Given the description of an element on the screen output the (x, y) to click on. 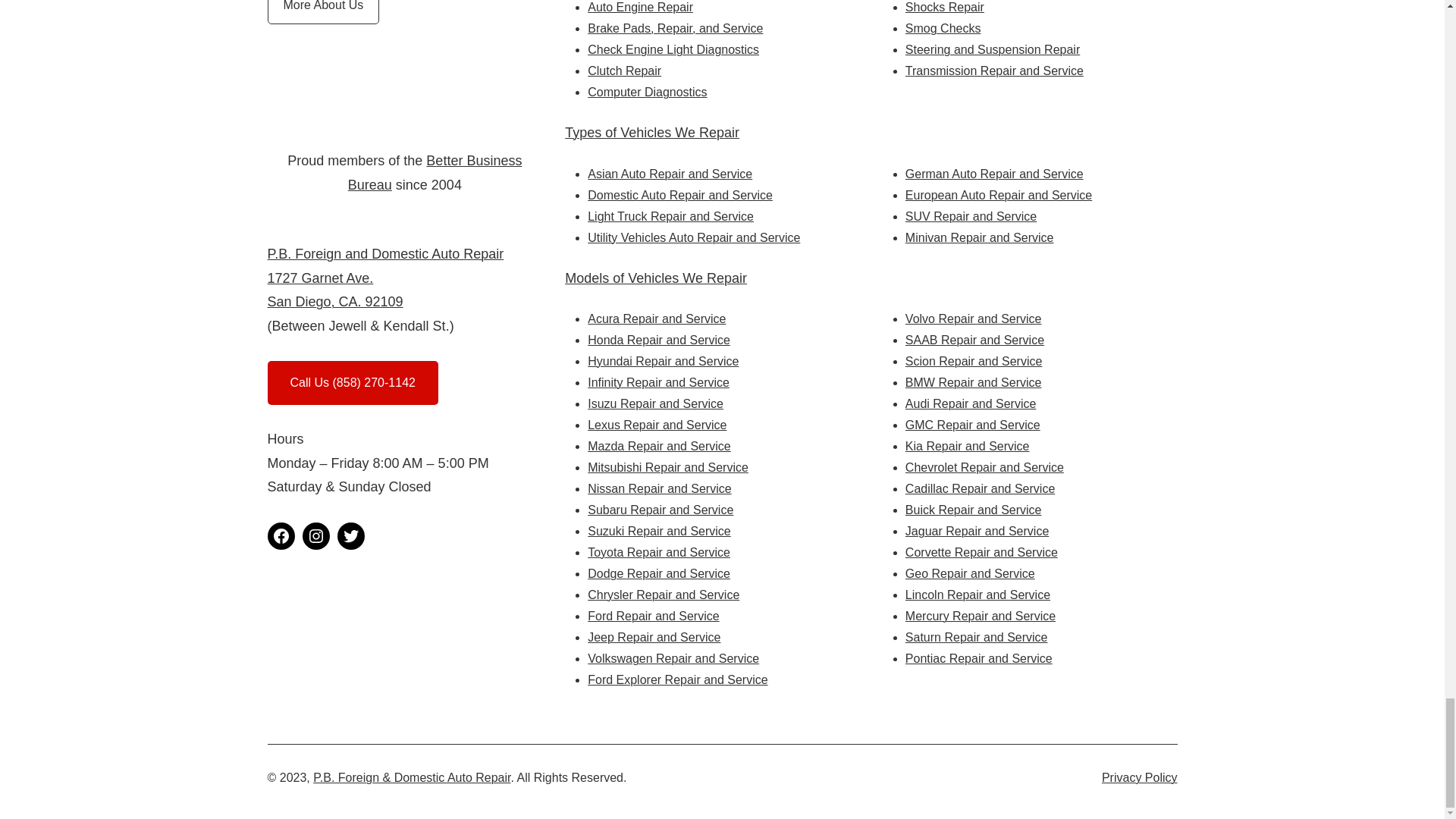
Better Business Bureau (434, 172)
More About Us (322, 12)
Instagram (315, 535)
Facebook (280, 535)
